Given the description of an element on the screen output the (x, y) to click on. 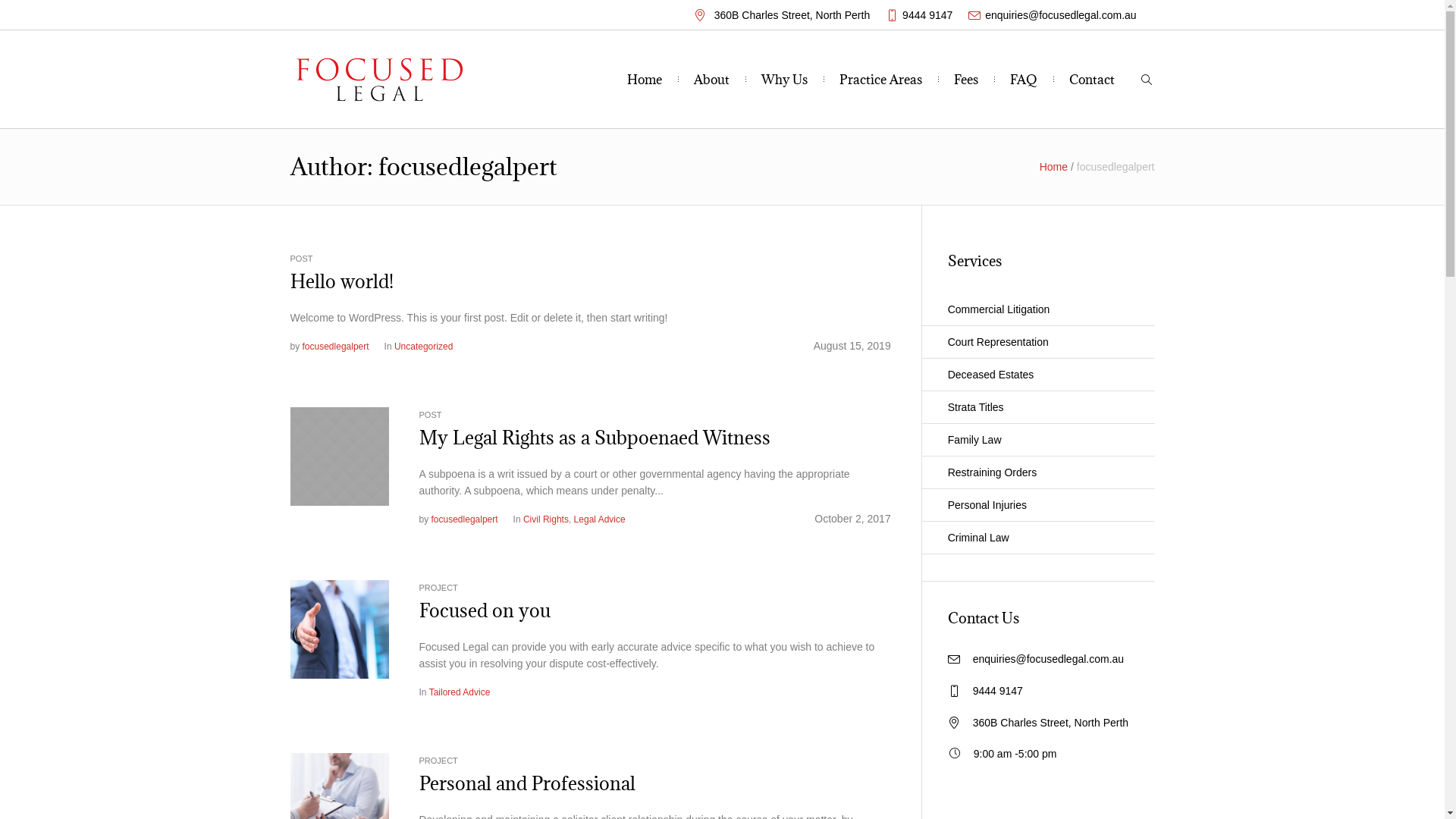
Home Element type: text (1053, 166)
My Legal Rights as a Subpoenaed Witness Element type: text (593, 437)
focusedlegalpert Element type: text (464, 519)
Legal Advice Element type: text (599, 519)
Tailored Advice Element type: text (459, 692)
Personal and Professional Element type: text (526, 783)
Criminal Law Element type: text (1037, 537)
Court Representation Element type: text (1037, 342)
Fees Element type: text (965, 79)
FAQ Element type: text (1023, 79)
Commercial Litigation Element type: text (1037, 309)
9444 9147 Element type: text (997, 690)
My Legal Rights as a Subpoenaed Witness Element type: hover (338, 456)
Uncategorized Element type: text (423, 346)
Civil Rights Element type: text (545, 519)
9444 9147 Element type: text (927, 15)
focusedlegalpert Element type: text (335, 346)
Focused on you Element type: hover (338, 628)
Why Us Element type: text (784, 79)
Personal Injuries Element type: text (1037, 505)
Strata Titles Element type: text (1037, 407)
Deceased Estates Element type: text (1037, 374)
Home Element type: text (644, 79)
Family Law Element type: text (1037, 439)
Restraining Orders Element type: text (1037, 472)
Personal and Professional Element type: hover (338, 801)
My Legal Rights as a Subpoenaed Witness Element type: hover (338, 455)
About Element type: text (711, 79)
Focused on you Element type: text (483, 610)
Practice Areas Element type: text (880, 79)
enquiries@focusedlegal.com.au Element type: text (1047, 658)
enquiries@focusedlegal.com.au Element type: text (1060, 15)
Focused on you Element type: hover (338, 629)
Hello world! Element type: text (340, 281)
Contact Element type: text (1091, 79)
